Given the description of an element on the screen output the (x, y) to click on. 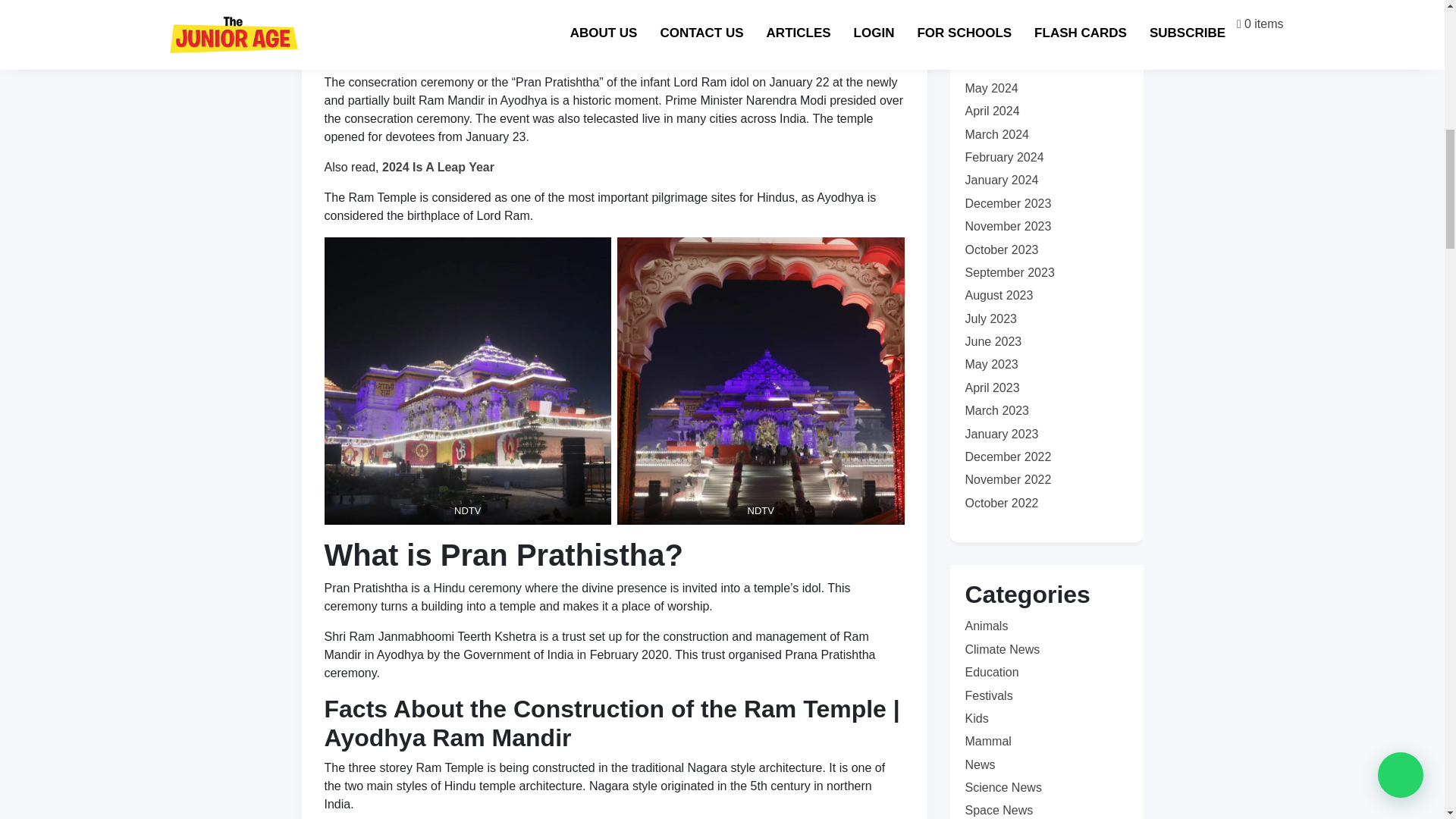
2024 Is A Leap Year (438, 166)
